Given the description of an element on the screen output the (x, y) to click on. 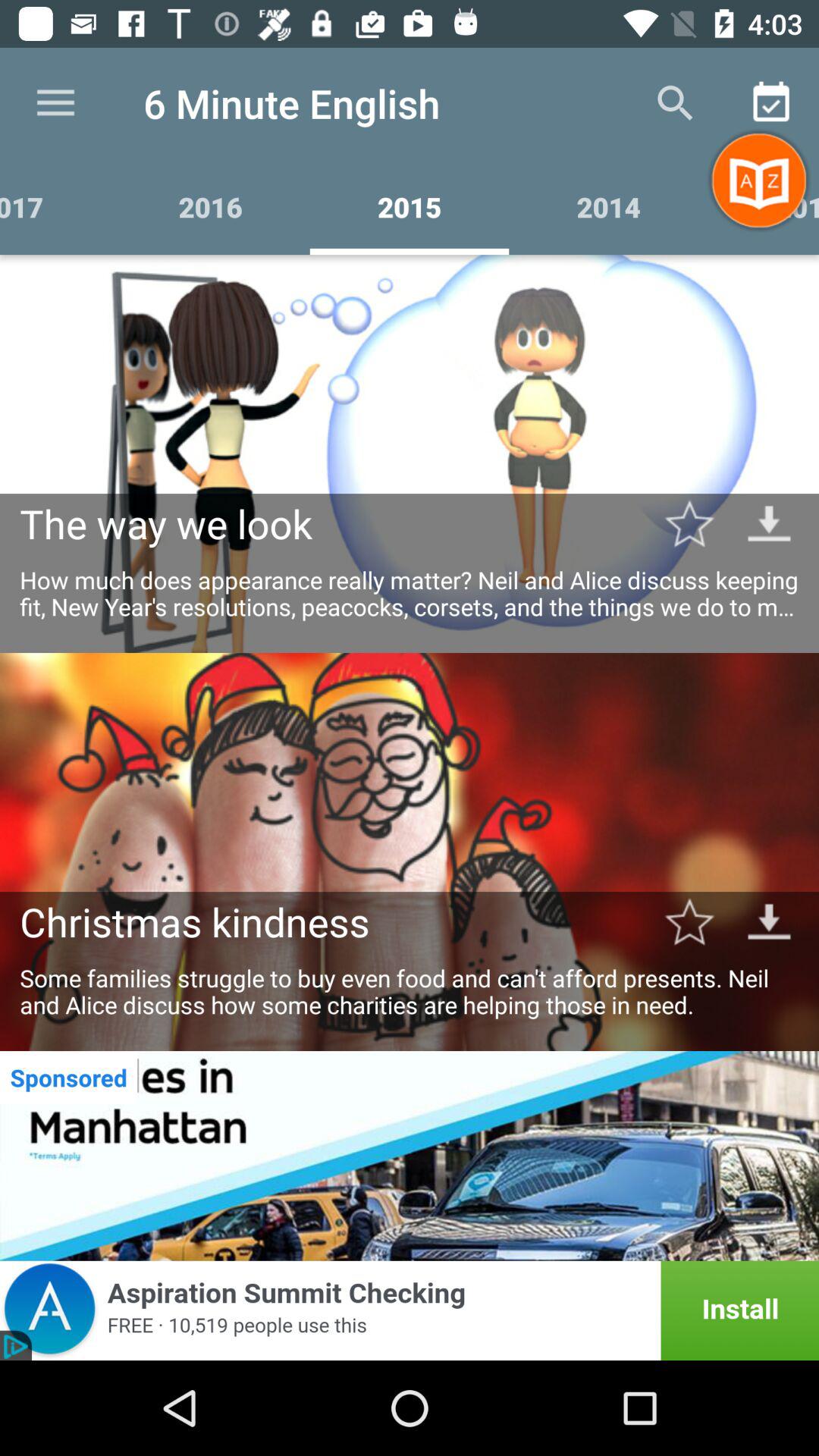
favorite button (689, 523)
